Given the description of an element on the screen output the (x, y) to click on. 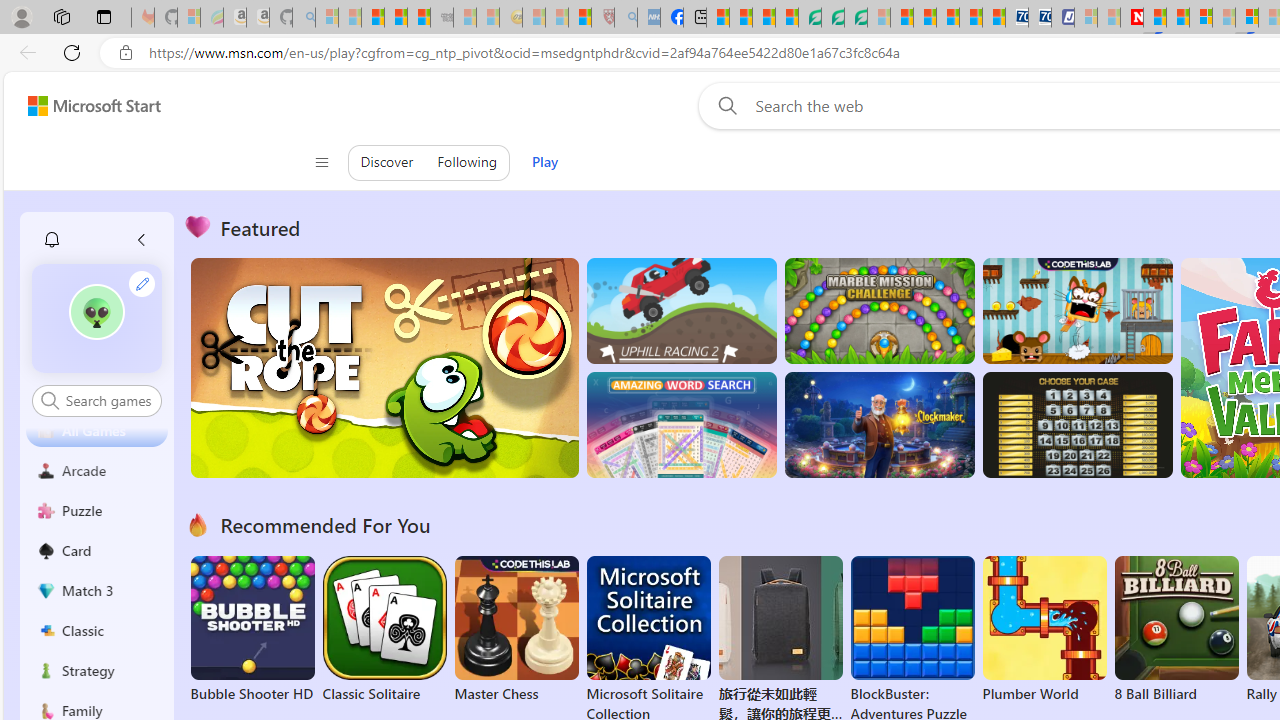
World - MSN (763, 17)
Microsoft Word - consumer-privacy address update 2.2021 (855, 17)
New Report Confirms 2023 Was Record Hot | Watch (419, 17)
Class: notification-item (51, 239)
Clockmaker (879, 425)
Class: profile-edit (142, 283)
8 Ball Billiard (1176, 629)
Class: search-icon (50, 400)
